Given the description of an element on the screen output the (x, y) to click on. 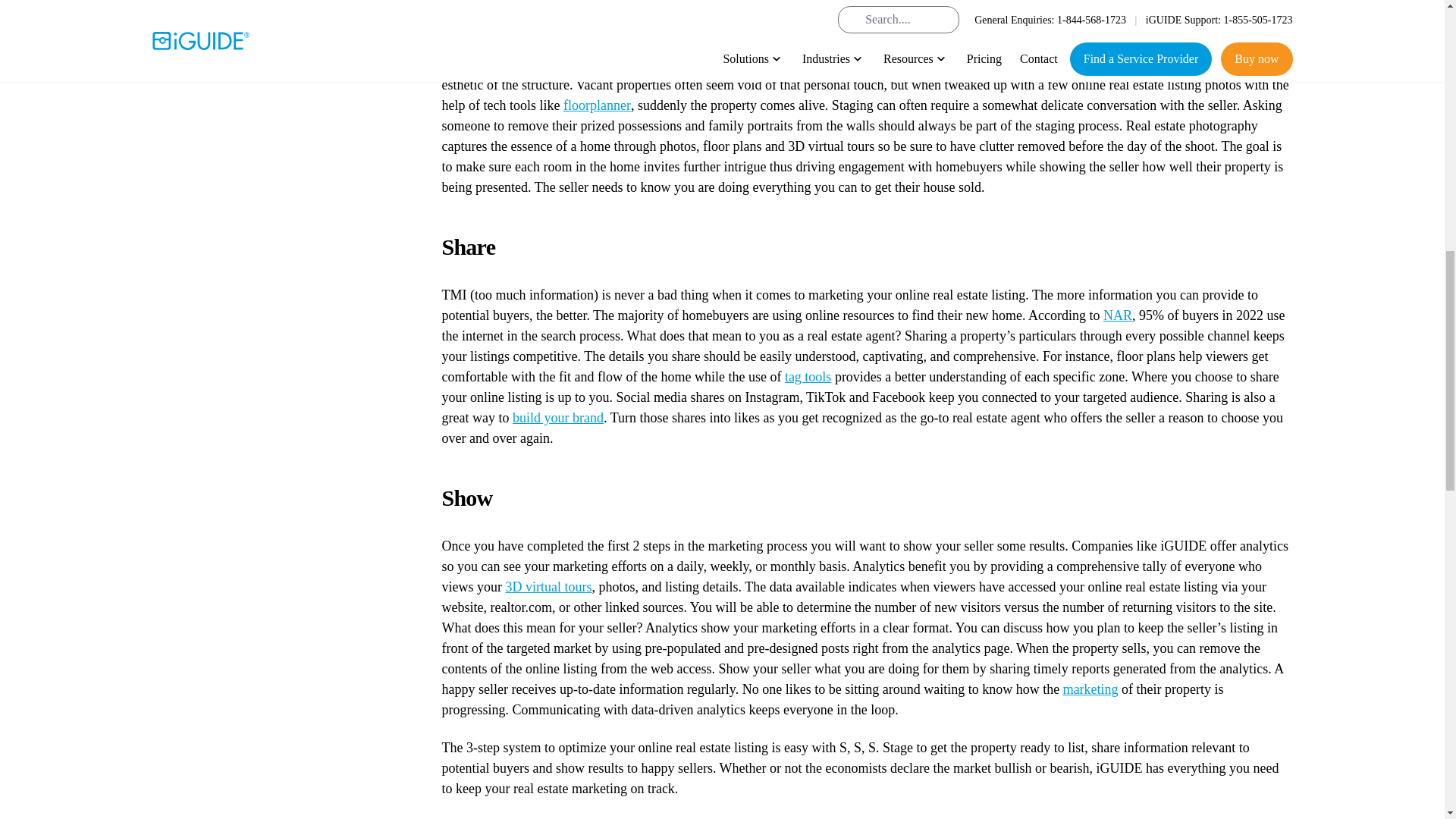
floorplanner (596, 105)
tag tools (807, 376)
NAR (1117, 314)
